Given the description of an element on the screen output the (x, y) to click on. 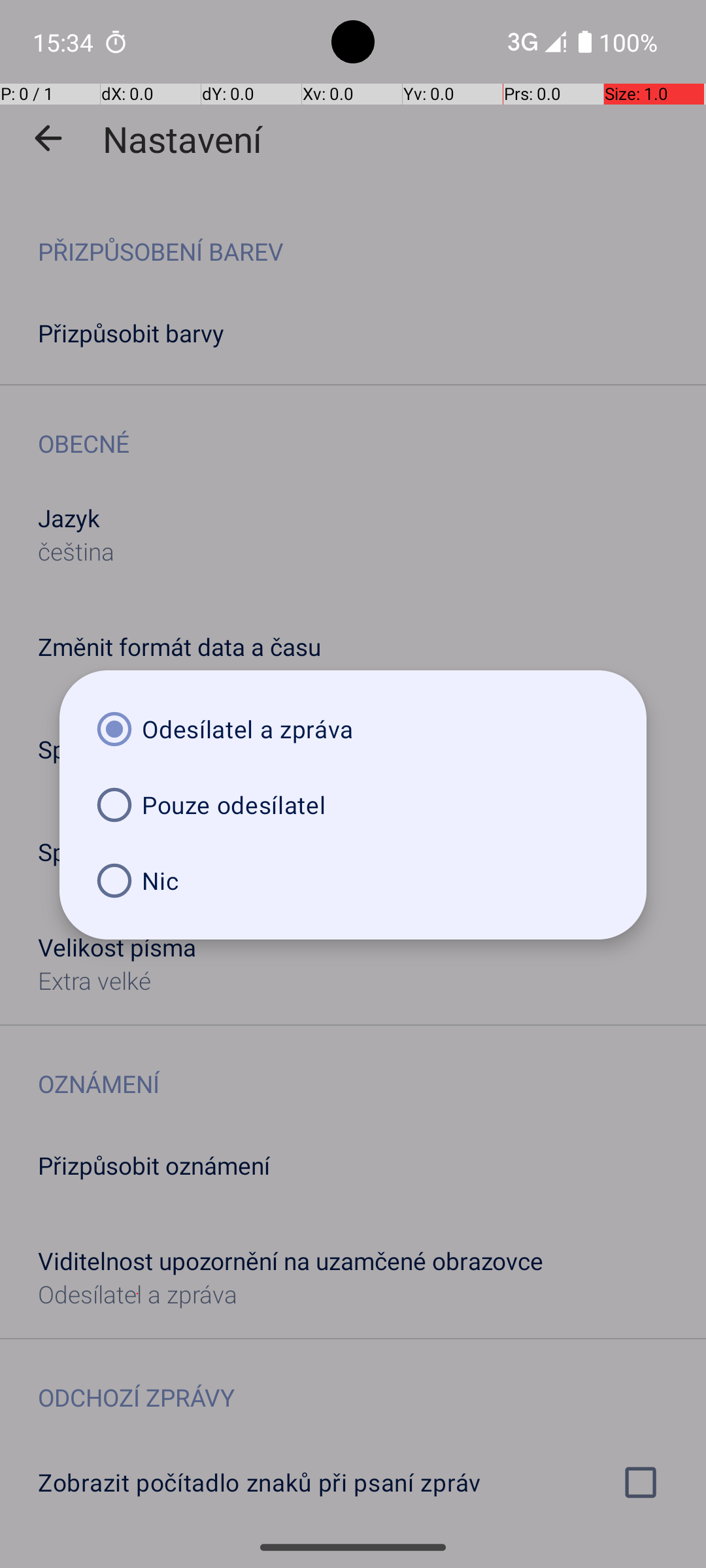
Odesílatel a zpráva Element type: android.widget.RadioButton (352, 729)
Pouze odesílatel Element type: android.widget.RadioButton (352, 804)
Nic Element type: android.widget.RadioButton (352, 880)
